Given the description of an element on the screen output the (x, y) to click on. 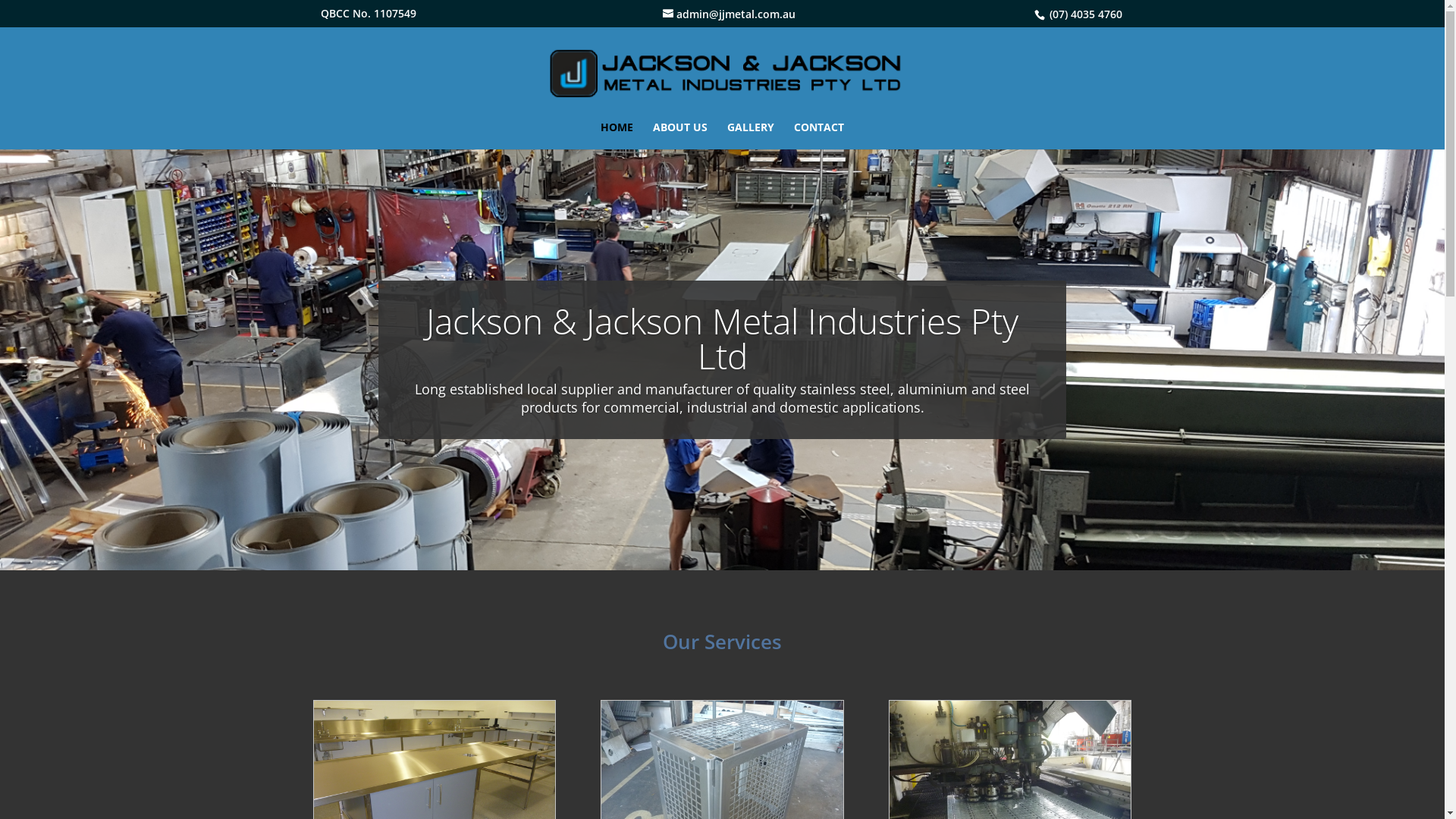
HOME Element type: text (616, 135)
(07) 4035 4760 Element type: text (1084, 13)
CONTACT Element type: text (818, 135)
admin@jjmetal.com.au Element type: text (728, 13)
ABOUT US Element type: text (679, 135)
GALLERY Element type: text (750, 135)
